Given the description of an element on the screen output the (x, y) to click on. 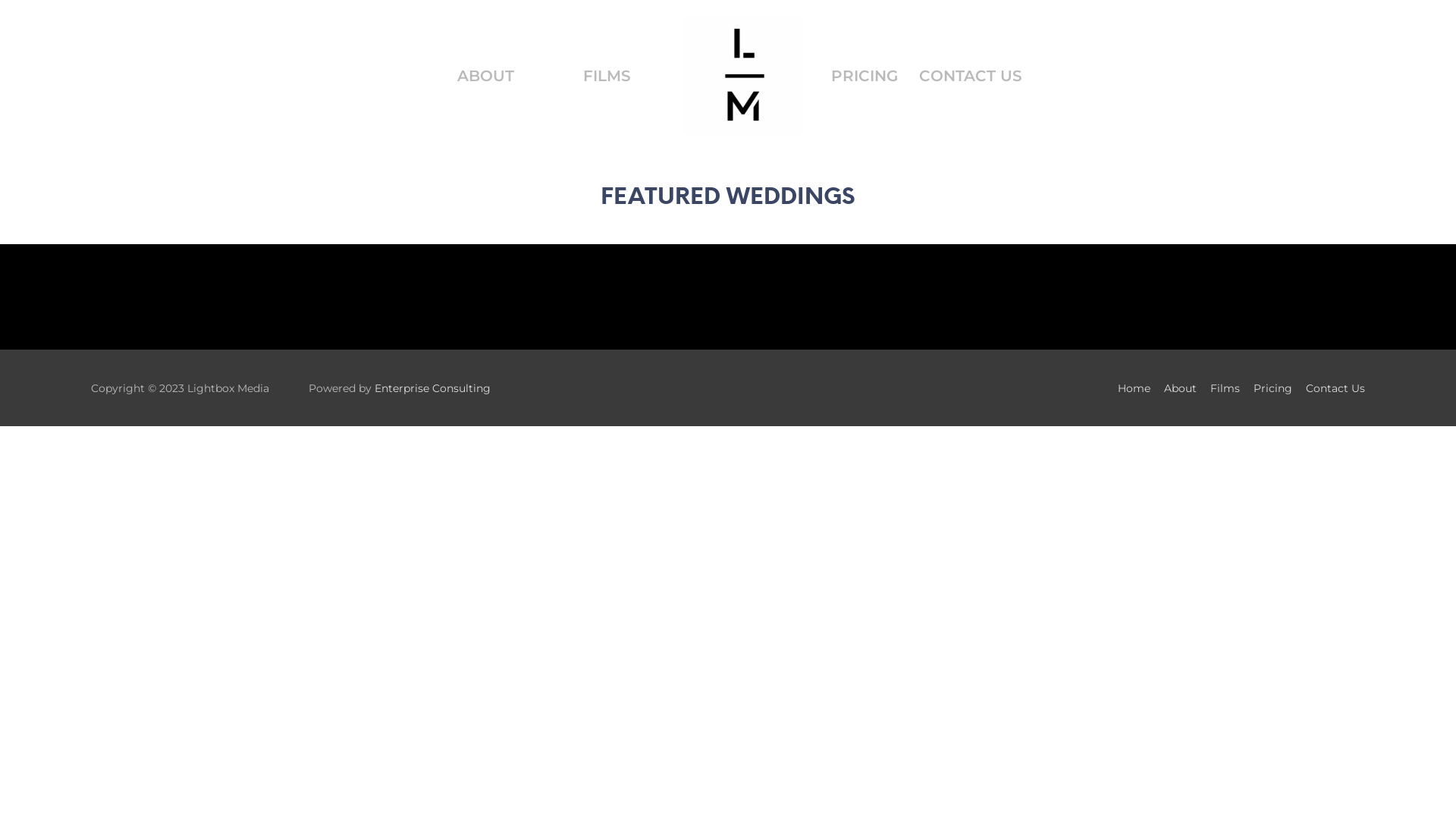
cropped-cropped-Sequence-01.00_00_17_00.Still001.jpg Element type: hover (742, 75)
About Element type: text (1174, 388)
PRICING Element type: text (864, 75)
Films Element type: text (1219, 388)
Enterprise Consulting Element type: text (432, 388)
Contact Us Element type: text (1330, 388)
CONTACT US Element type: text (970, 75)
Pricing Element type: text (1267, 388)
FILMS Element type: text (606, 75)
Home Element type: text (1128, 388)
ABOUT Element type: text (484, 75)
